Given the description of an element on the screen output the (x, y) to click on. 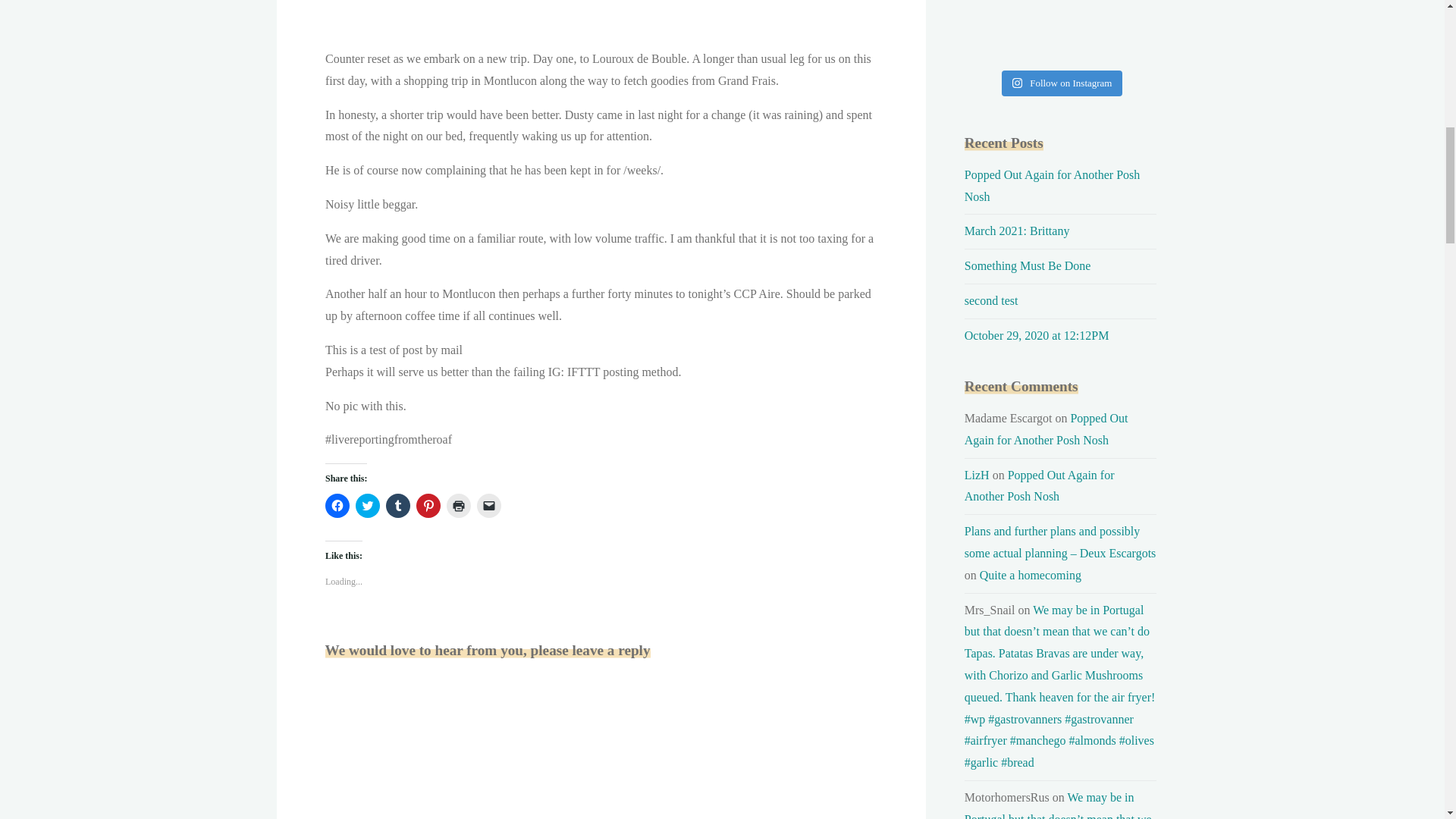
Follow on Instagram (1061, 83)
LizH (976, 474)
March 2021: Brittany (1016, 230)
Click to share on Pinterest (426, 505)
Click to share on Twitter (366, 505)
October 29, 2020 at 12:12PM (1036, 335)
Popped Out Again for Another Posh Nosh (1051, 185)
second test (990, 300)
Something Must Be Done (1026, 265)
Click to share on Facebook (336, 505)
